Given the description of an element on the screen output the (x, y) to click on. 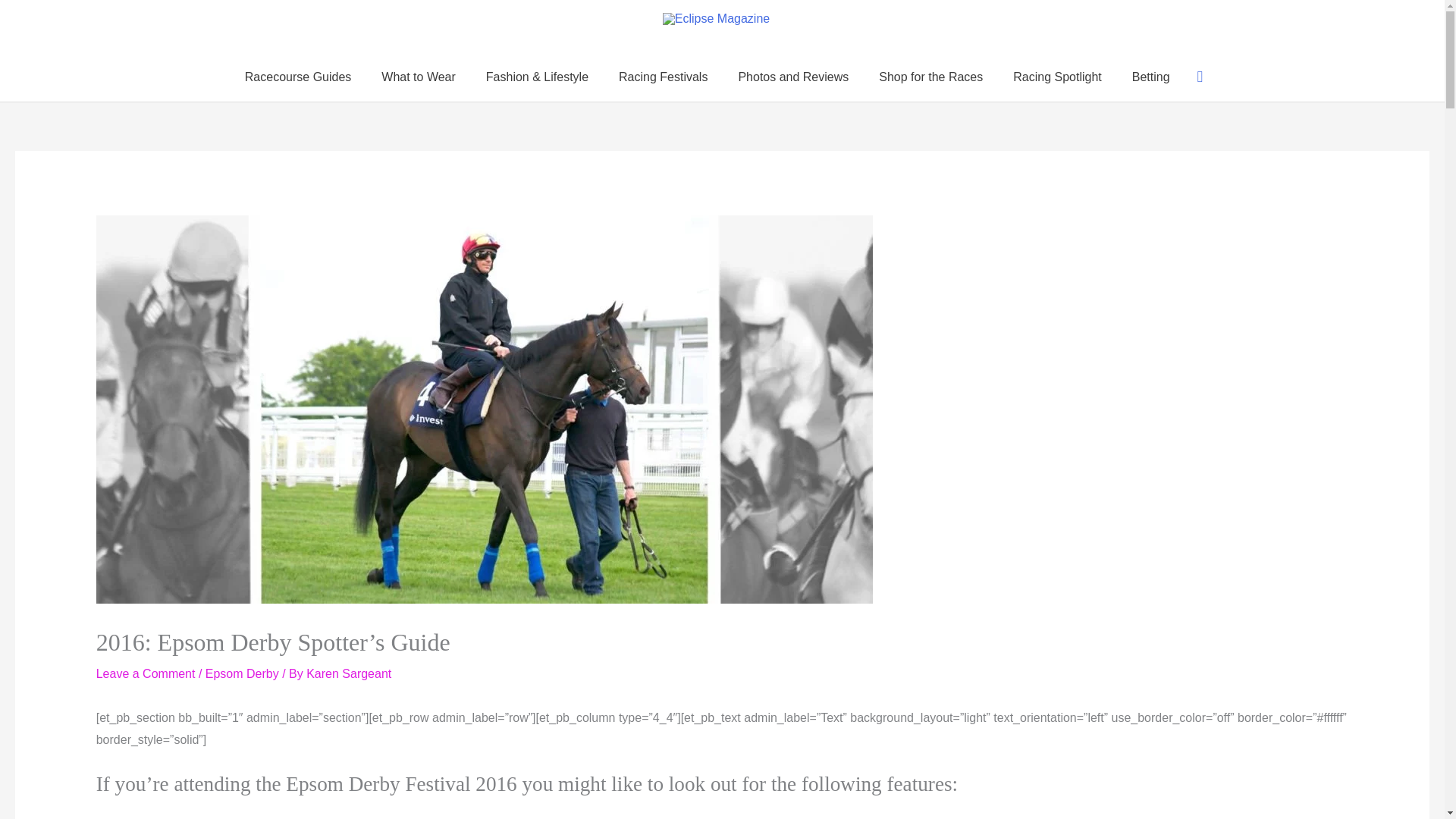
Betting (1150, 77)
Photos and Reviews (792, 77)
Racecourse Guides (298, 77)
What to Wear (418, 77)
Shop for the Races (930, 77)
Leave a Comment (145, 673)
View all posts by Karen Sargeant (348, 673)
Karen Sargeant (348, 673)
Racing Spotlight (1056, 77)
Epsom Derby (242, 673)
